Given the description of an element on the screen output the (x, y) to click on. 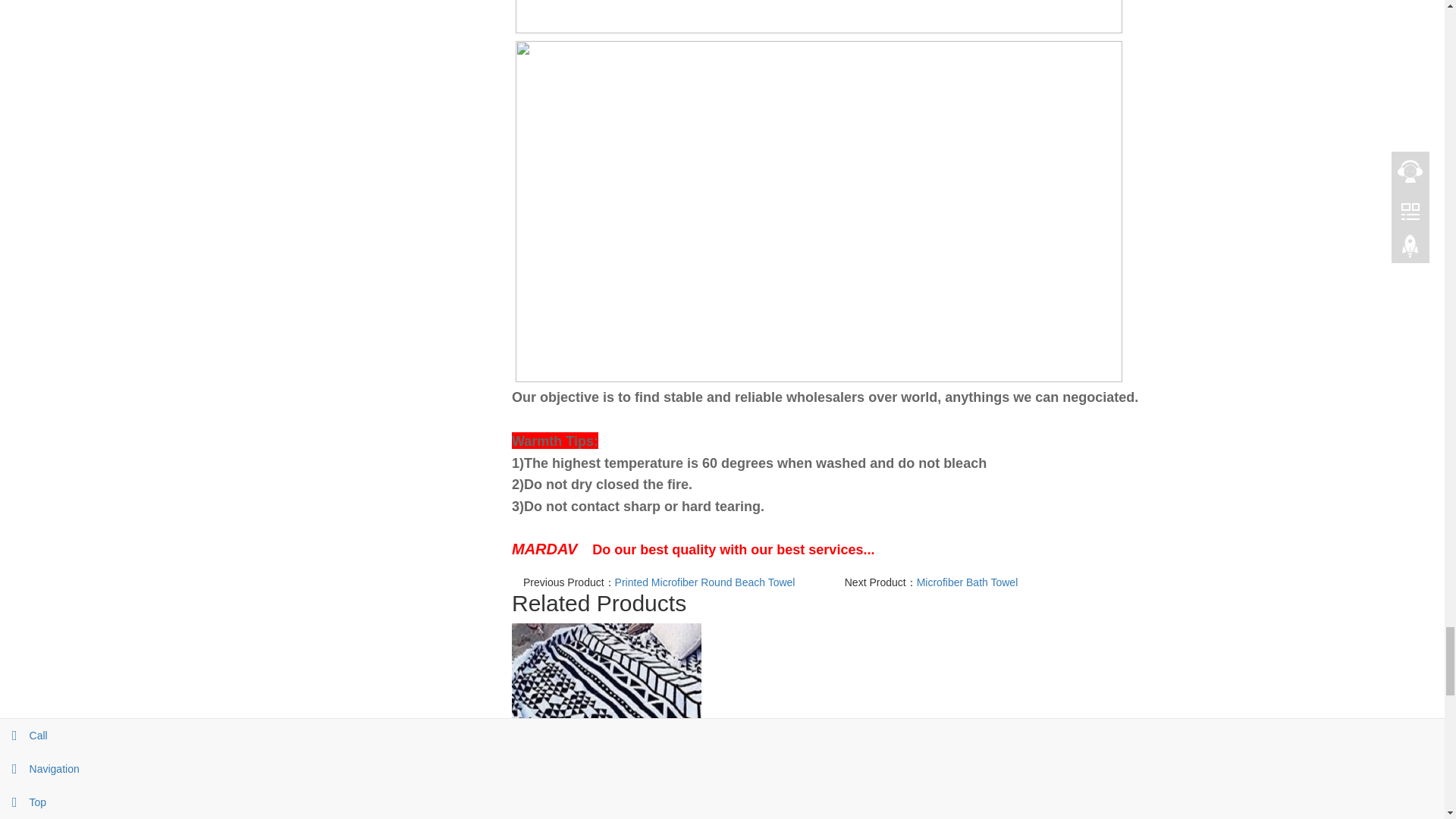
Microfiber Bath Towel (967, 582)
Printed Microfiber Round Beach Towel (704, 582)
